Given the description of an element on the screen output the (x, y) to click on. 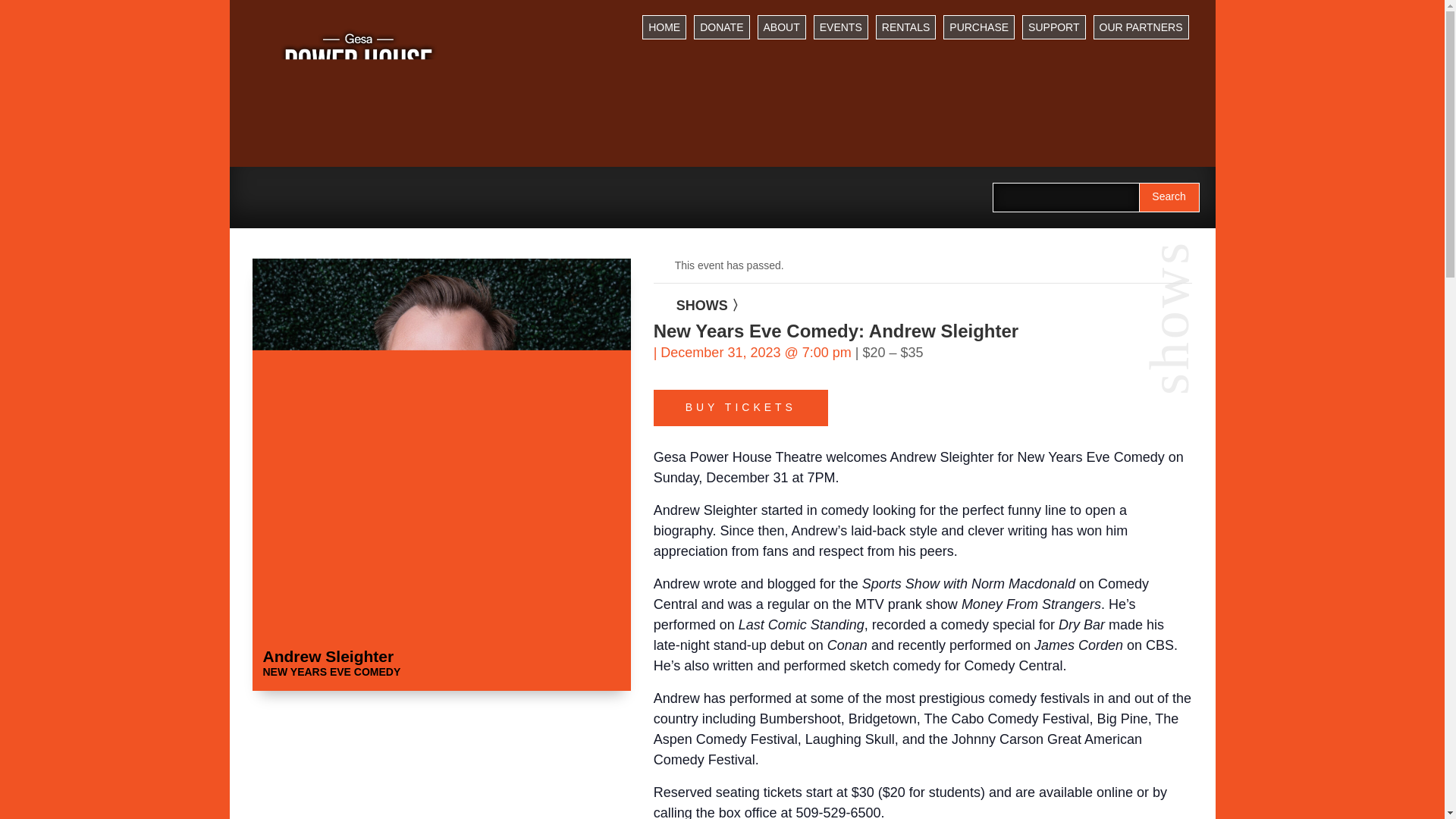
Donate (721, 27)
RENTALS (906, 27)
Events (840, 27)
Home (663, 27)
HOME (663, 27)
DONATE (721, 27)
ABOUT (781, 27)
EVENTS (840, 27)
About (781, 27)
Search (1168, 197)
SUPPORT (1053, 27)
PURCHASE (978, 27)
